Given the description of an element on the screen output the (x, y) to click on. 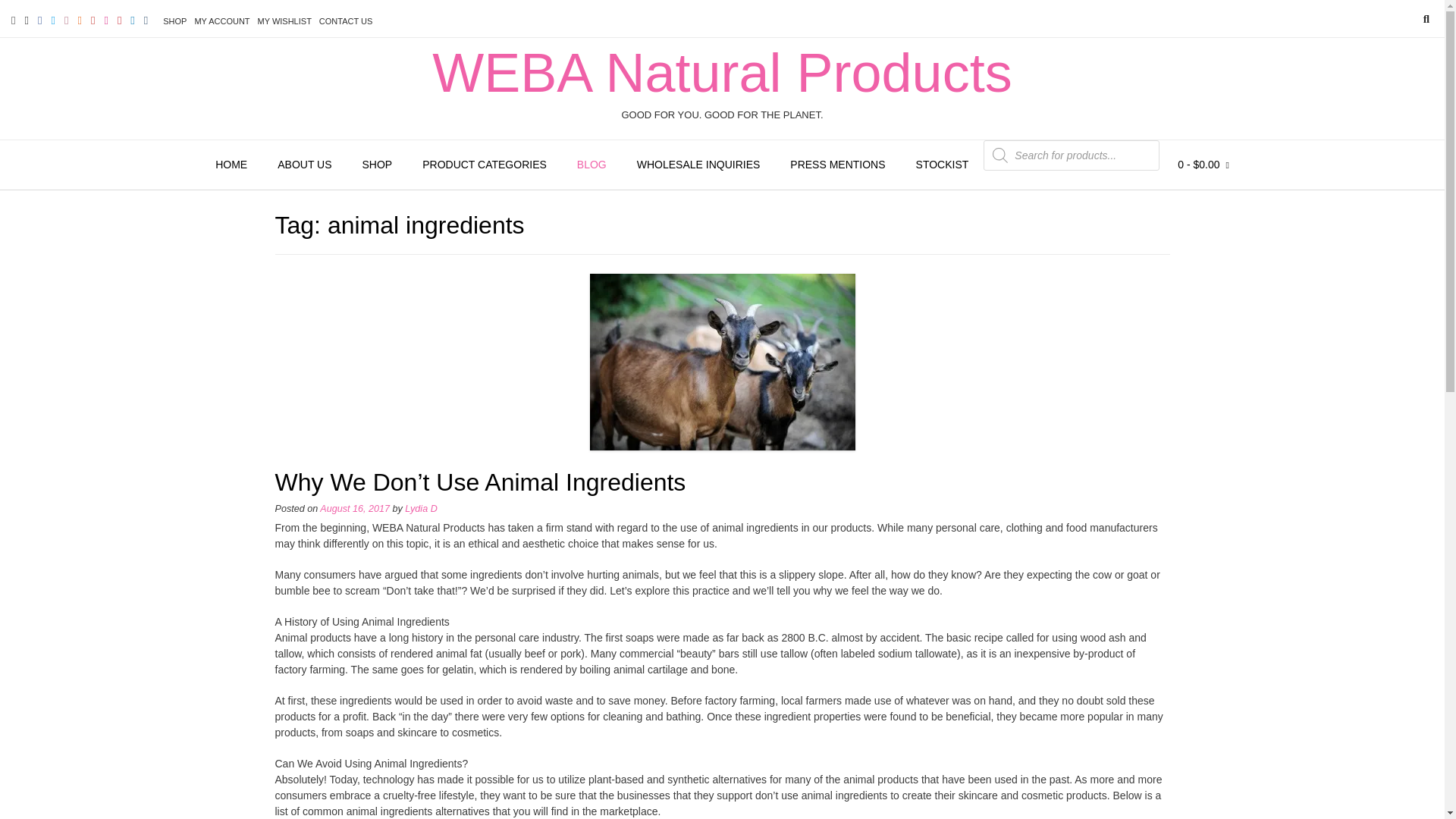
View your shopping cart (1202, 165)
SHOP (174, 21)
PRODUCT CATEGORIES (484, 165)
SHOP (377, 165)
WHOLESALE INQUIRIES (698, 165)
PRESS MENTIONS (836, 165)
August 16, 2017 (355, 508)
HOME (231, 165)
MY WISHLIST (284, 21)
STOCKIST (942, 165)
